Given the description of an element on the screen output the (x, y) to click on. 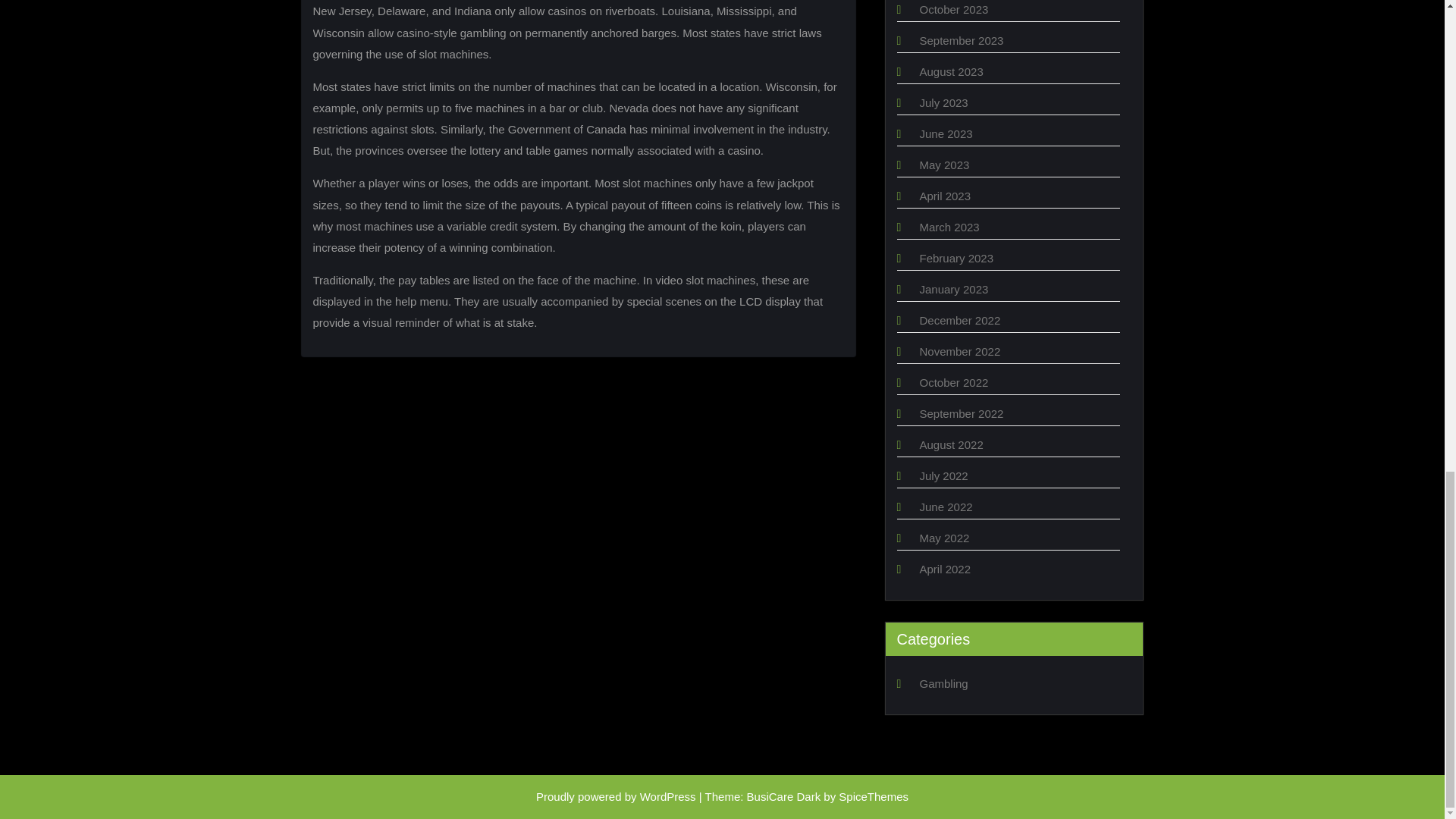
October 2023 (953, 9)
July 2023 (943, 102)
October 2022 (953, 382)
May 2023 (943, 164)
September 2022 (960, 413)
June 2023 (945, 133)
February 2023 (955, 257)
June 2022 (945, 506)
April 2023 (944, 195)
January 2023 (953, 288)
December 2022 (959, 319)
September 2023 (960, 40)
August 2023 (950, 71)
August 2022 (950, 444)
November 2022 (959, 350)
